Given the description of an element on the screen output the (x, y) to click on. 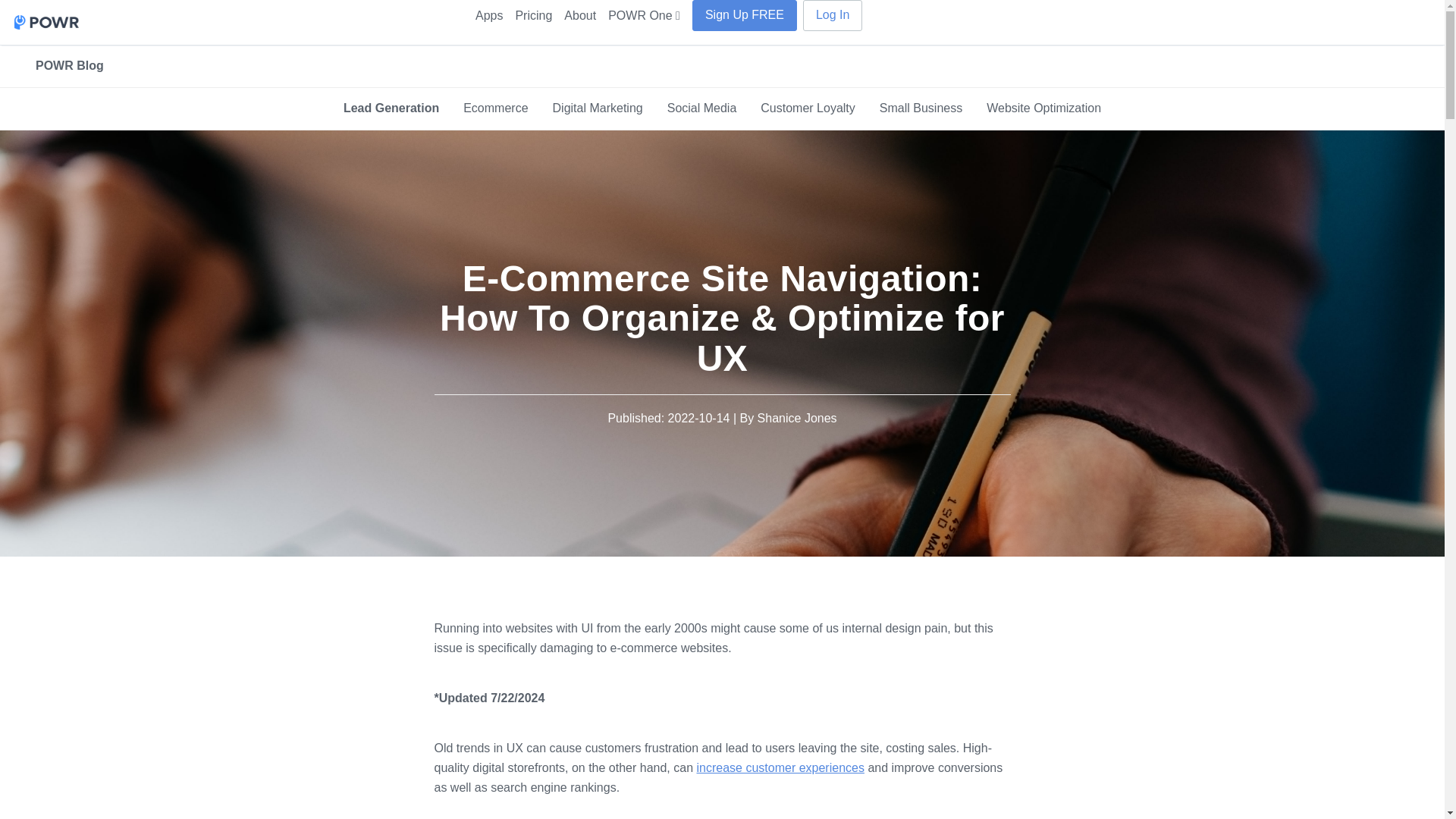
Social Media (702, 107)
Customer Loyalty (807, 107)
About (579, 16)
Ecommerce (495, 107)
Log In (832, 15)
Apps (489, 16)
Sign Up FREE (744, 15)
Pricing (533, 16)
Website Optimization (1043, 107)
POWR Blog (69, 65)
